Given the description of an element on the screen output the (x, y) to click on. 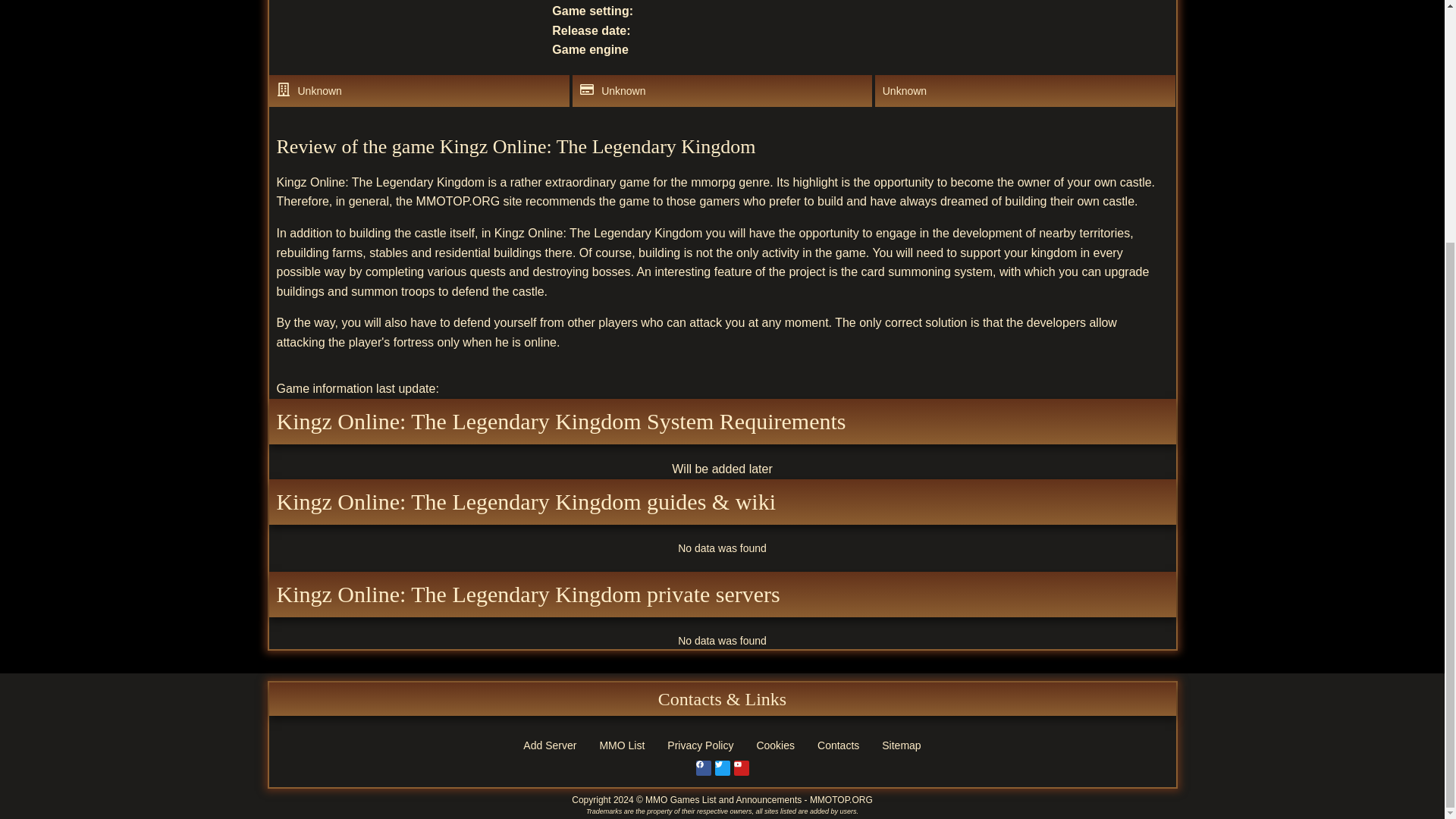
Contacts (838, 745)
Privacy Policy (700, 745)
Sitemap (900, 745)
Add Server (550, 745)
MMO List (622, 745)
Cookies (775, 745)
